Given the description of an element on the screen output the (x, y) to click on. 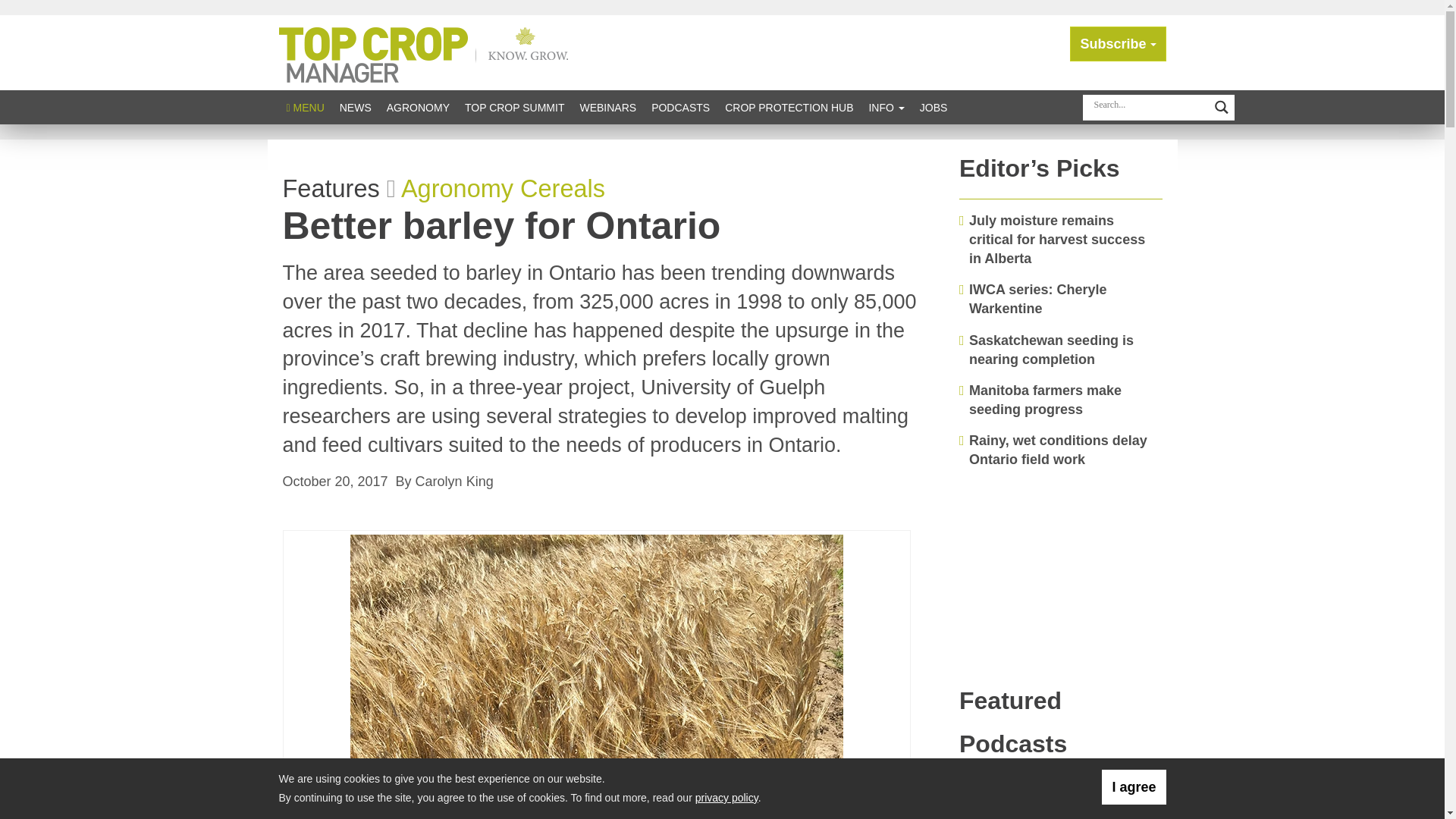
MENU (305, 107)
Subscribe (1118, 43)
Click to show site navigation (305, 107)
3rd party ad content (1060, 576)
PODCASTS (680, 107)
AGRONOMY (417, 107)
TOP CROP SUMMIT (514, 107)
NEWS (354, 107)
CROP PROTECTION HUB (788, 107)
INFO (885, 107)
JOBS (933, 107)
Top Crop Manager (427, 51)
WEBINARS (607, 107)
